Given the description of an element on the screen output the (x, y) to click on. 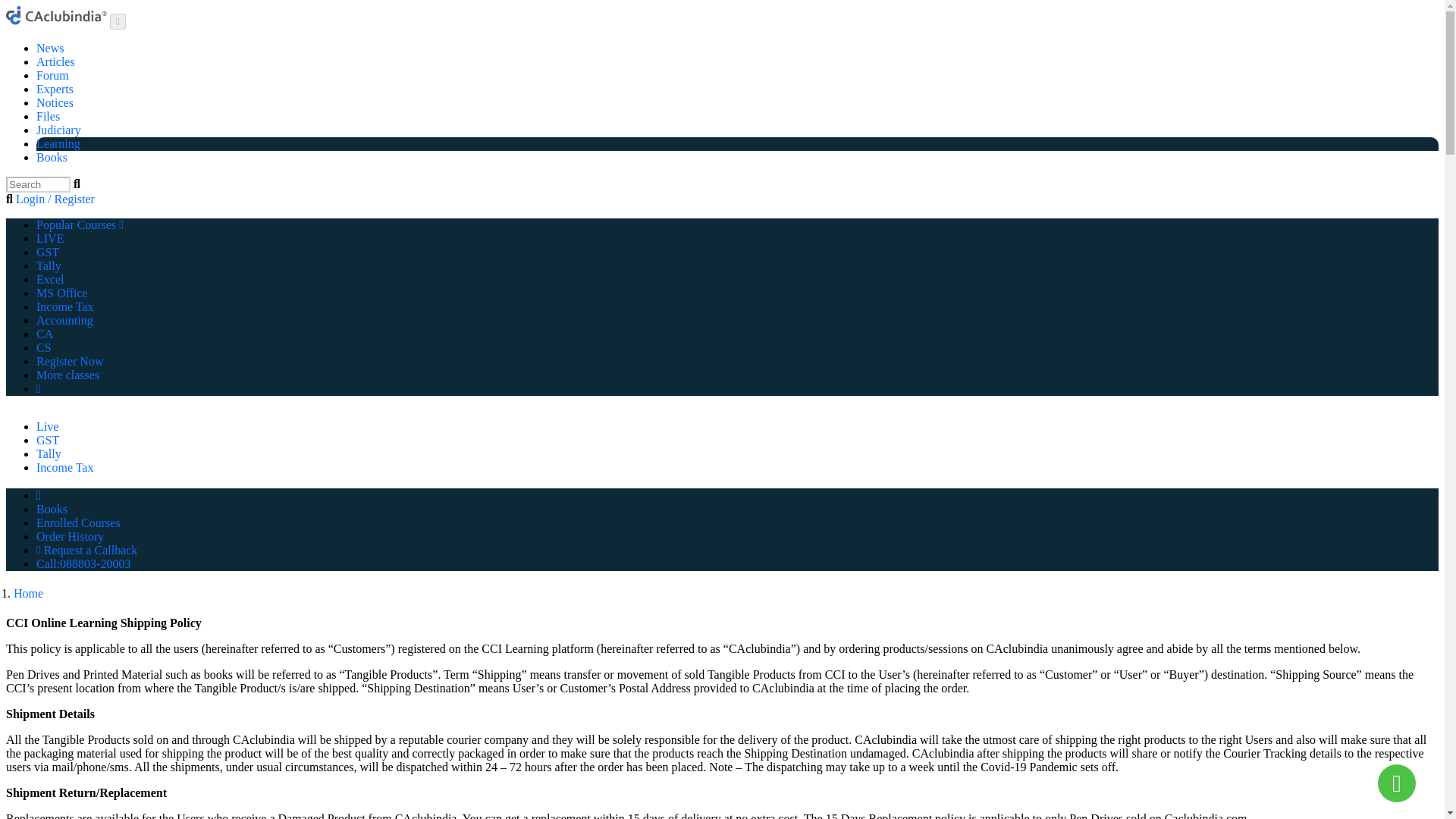
Judiciary (58, 129)
News (50, 47)
Accounting (64, 319)
Tally (48, 265)
Books (51, 156)
GST (47, 251)
Register Now (69, 360)
Notices (55, 102)
CA (44, 333)
Income Tax (64, 467)
LIVE (50, 237)
Forum (52, 74)
GST (47, 440)
MS Office (61, 292)
Popular Courses (79, 224)
